Given the description of an element on the screen output the (x, y) to click on. 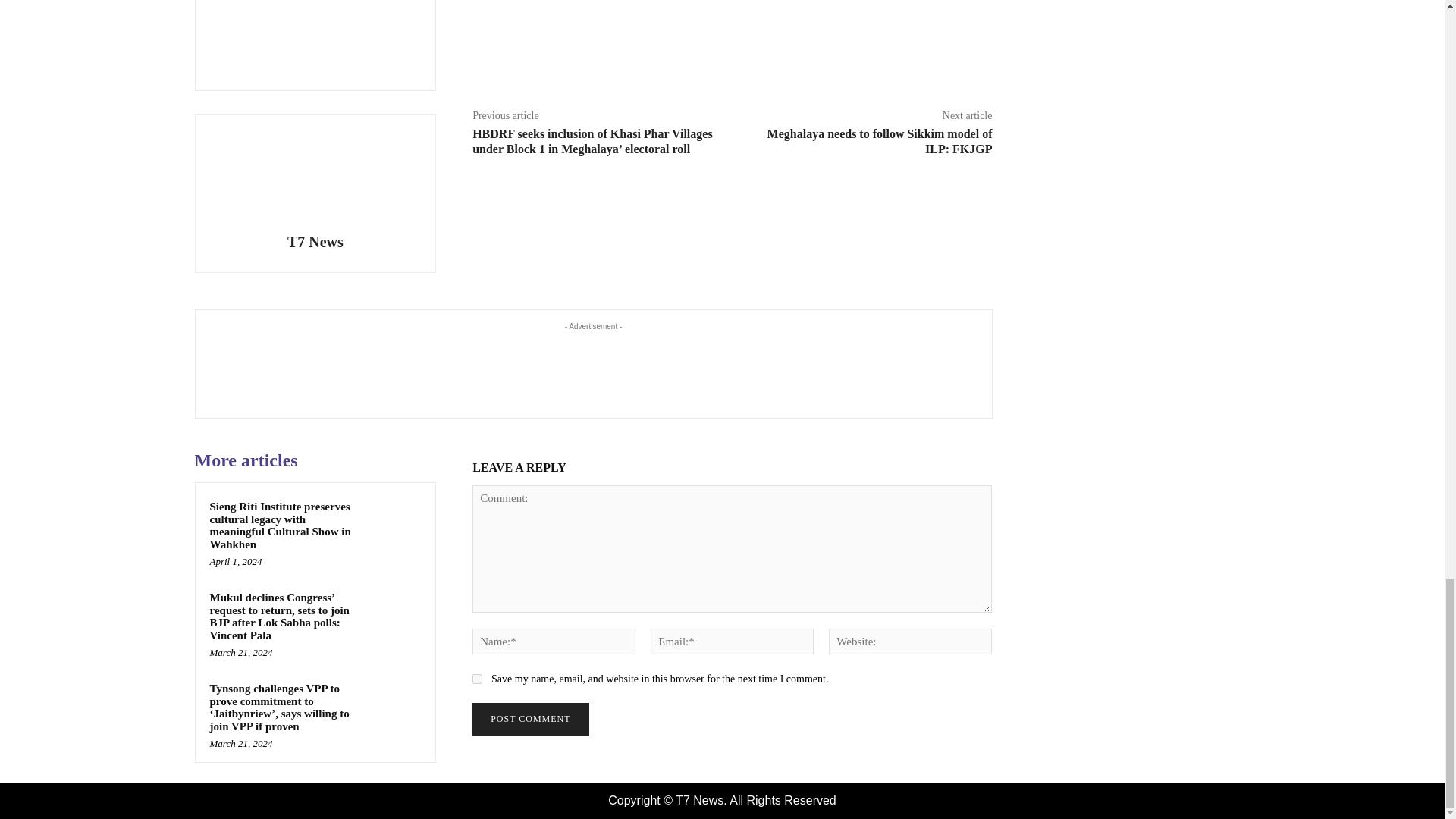
yes (476, 678)
Post Comment (529, 718)
